Given the description of an element on the screen output the (x, y) to click on. 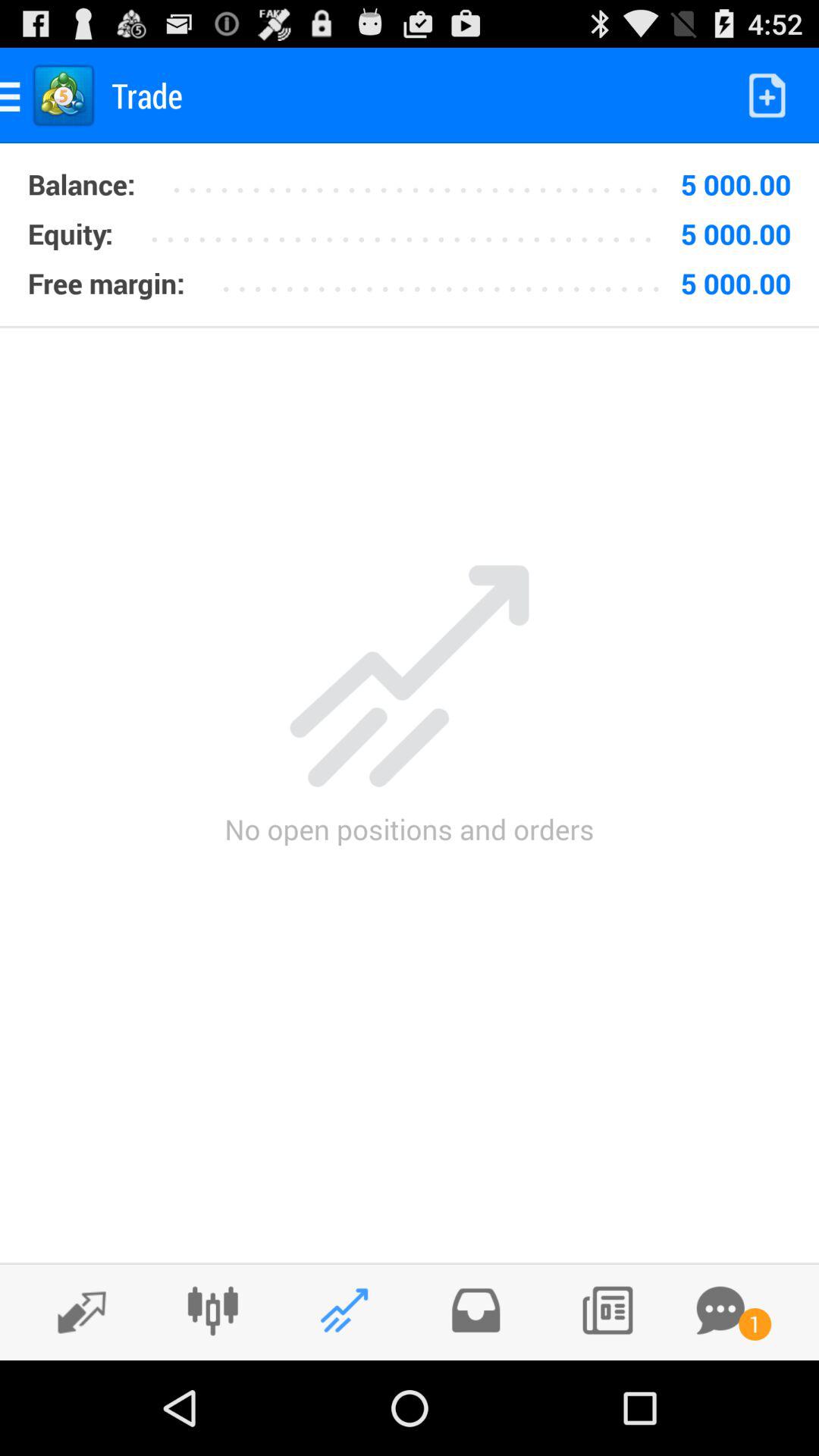
open positions and orders (344, 1310)
